Given the description of an element on the screen output the (x, y) to click on. 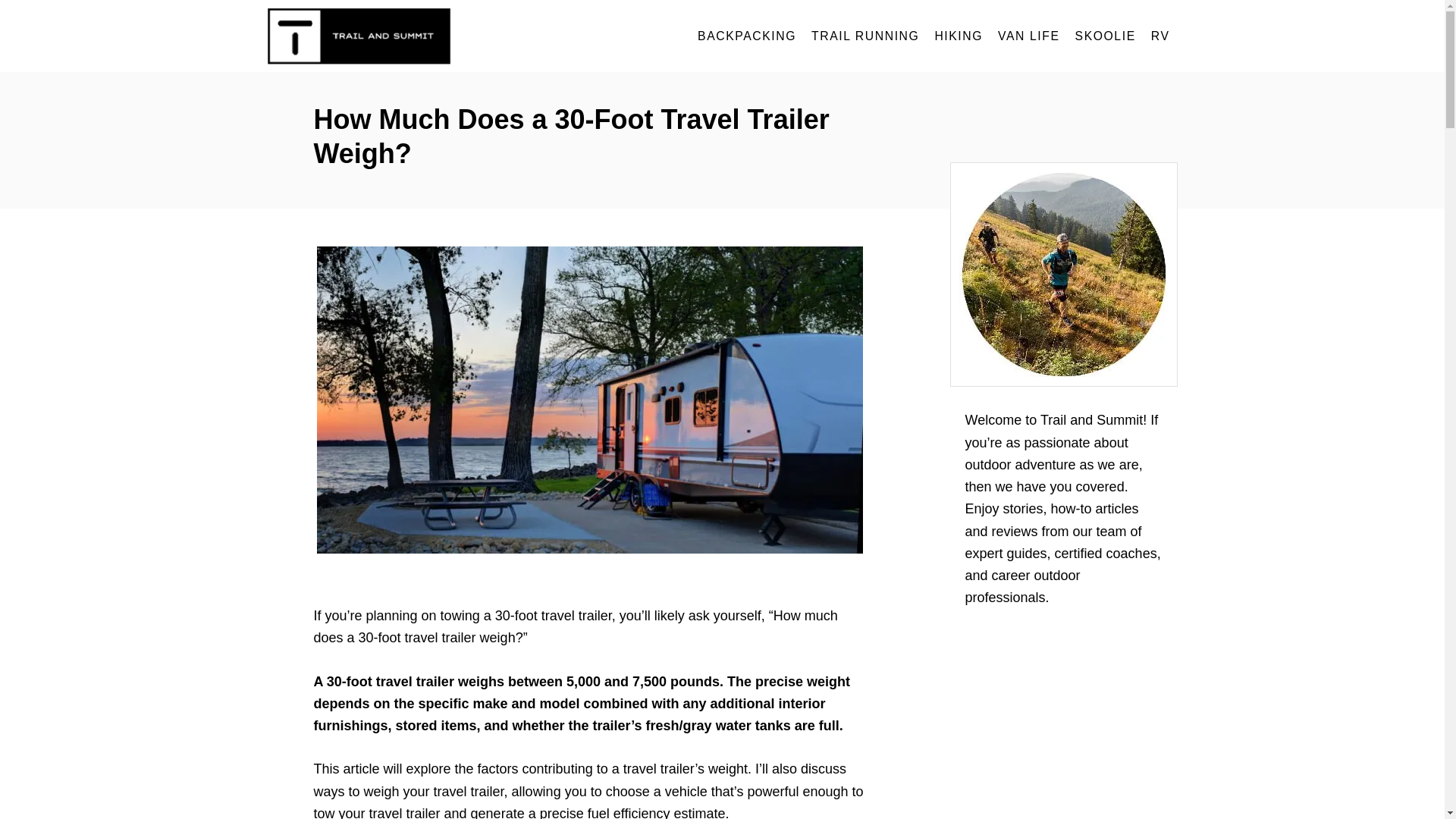
VAN LIFE (1028, 36)
SKOOLIE (1104, 36)
Search (22, 22)
RV (1159, 36)
Trail and Summit (403, 36)
HIKING (958, 36)
BACKPACKING (746, 36)
TRAIL RUNNING (864, 36)
